Given the description of an element on the screen output the (x, y) to click on. 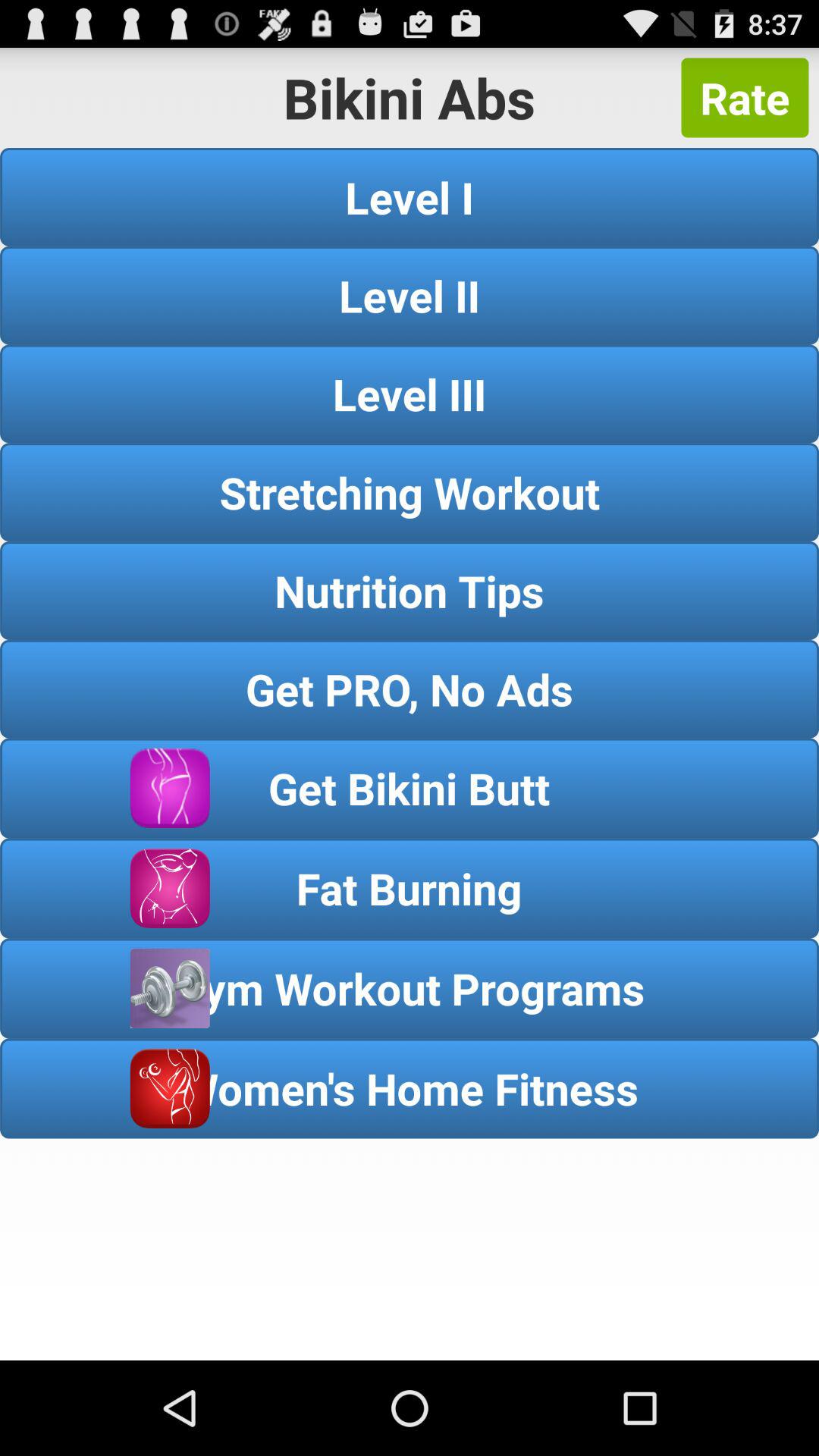
jump until the rate button (744, 97)
